Given the description of an element on the screen output the (x, y) to click on. 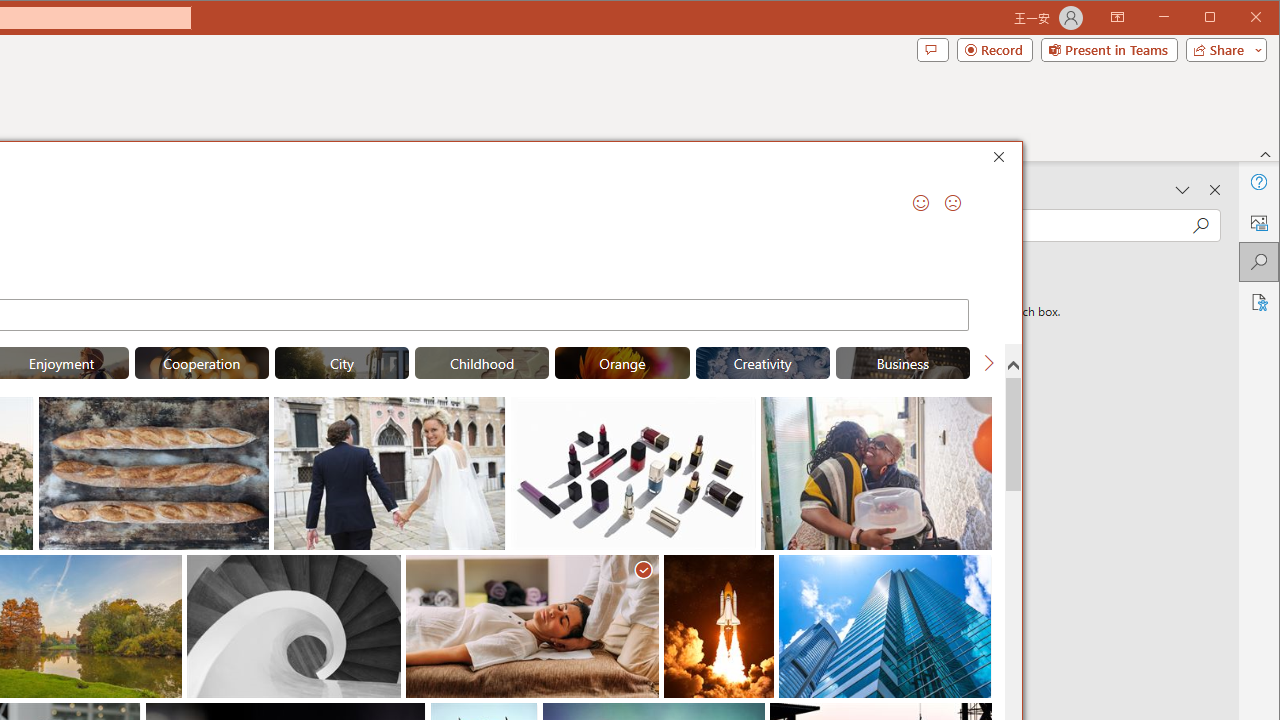
"City" Stock Images. (342, 362)
"Orange" Stock Images. (622, 362)
